Given the description of an element on the screen output the (x, y) to click on. 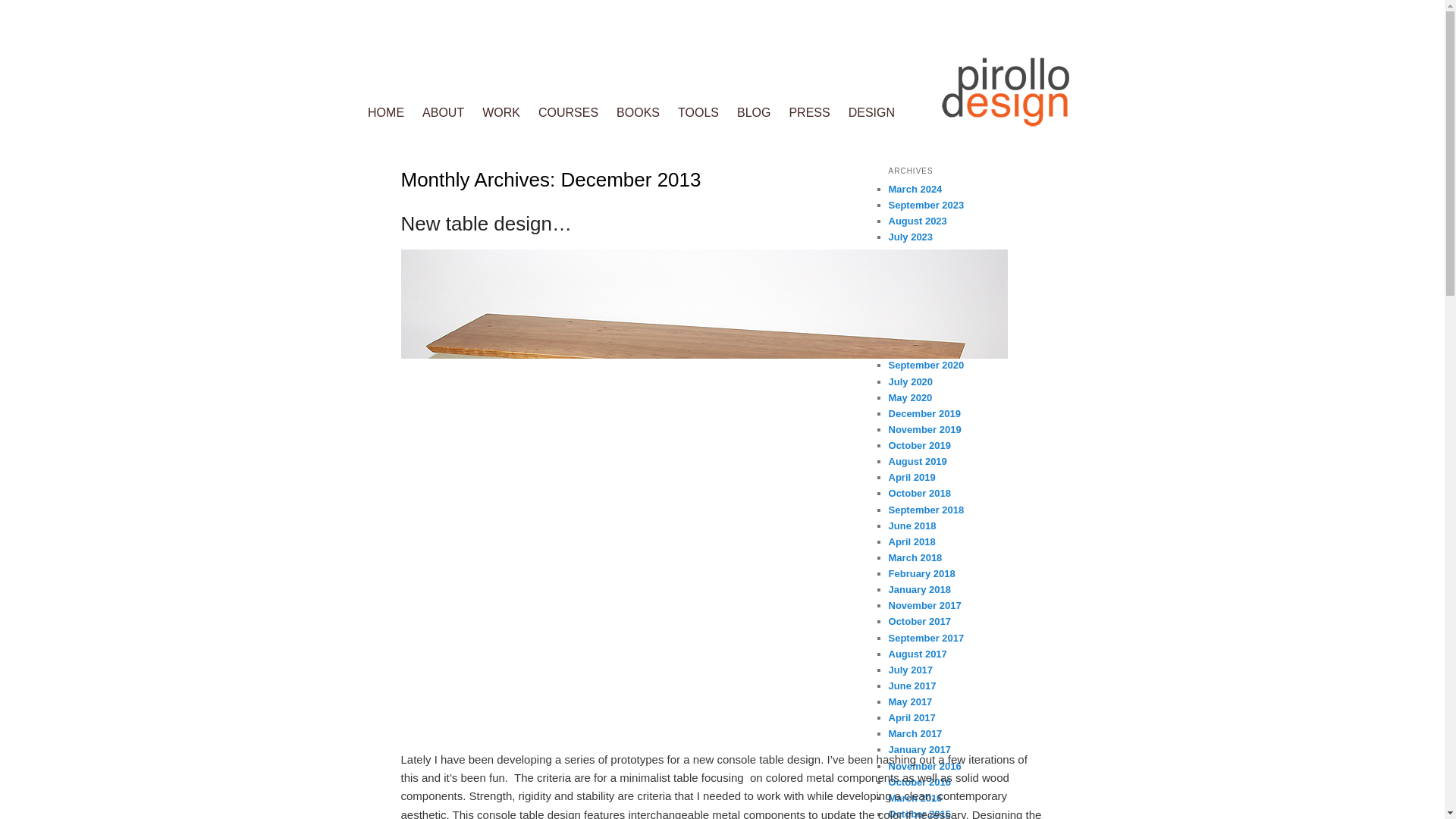
September 2021 (925, 269)
HOME (385, 112)
July 2023 (910, 236)
SKIP TO PRIMARY CONTENT (462, 112)
DESIGN (872, 112)
WORK (501, 112)
SKIP TO SECONDARY CONTENT (472, 112)
December 2022 (924, 252)
BOOKS (637, 112)
May 2021 (910, 301)
